Given the description of an element on the screen output the (x, y) to click on. 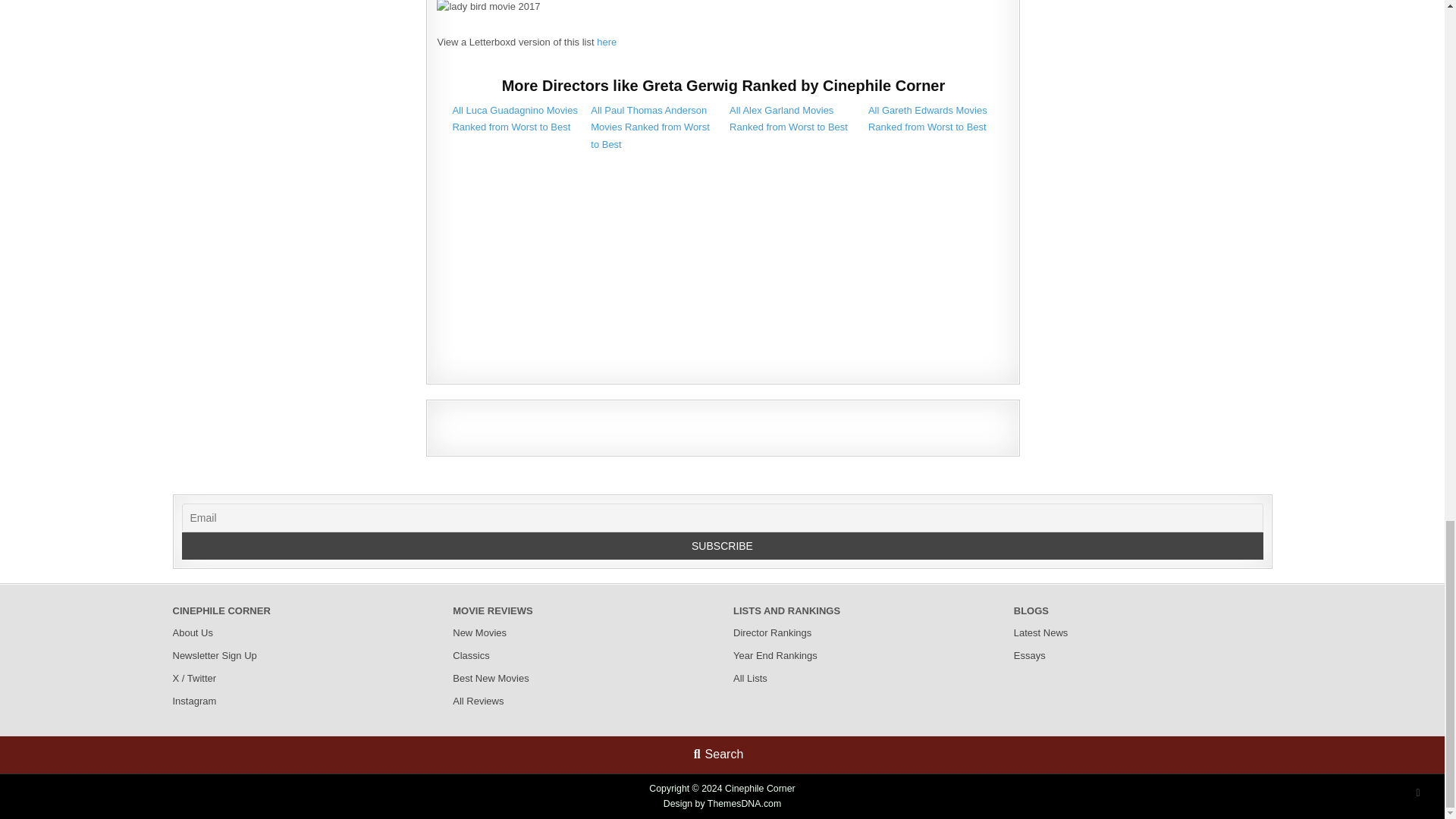
Newsletter Sign Up (215, 655)
Subscribe (722, 545)
All Gareth Edwards Movies Ranked from Worst to Best (927, 118)
All Luca Guadagnino Movies Ranked from Worst to Best (514, 118)
All Alex Garland Movies Ranked from Worst to Best (788, 118)
Subscribe (722, 545)
here (605, 41)
All Paul Thomas Anderson Movies Ranked from Worst to Best (650, 126)
About Us (192, 632)
